Given the description of an element on the screen output the (x, y) to click on. 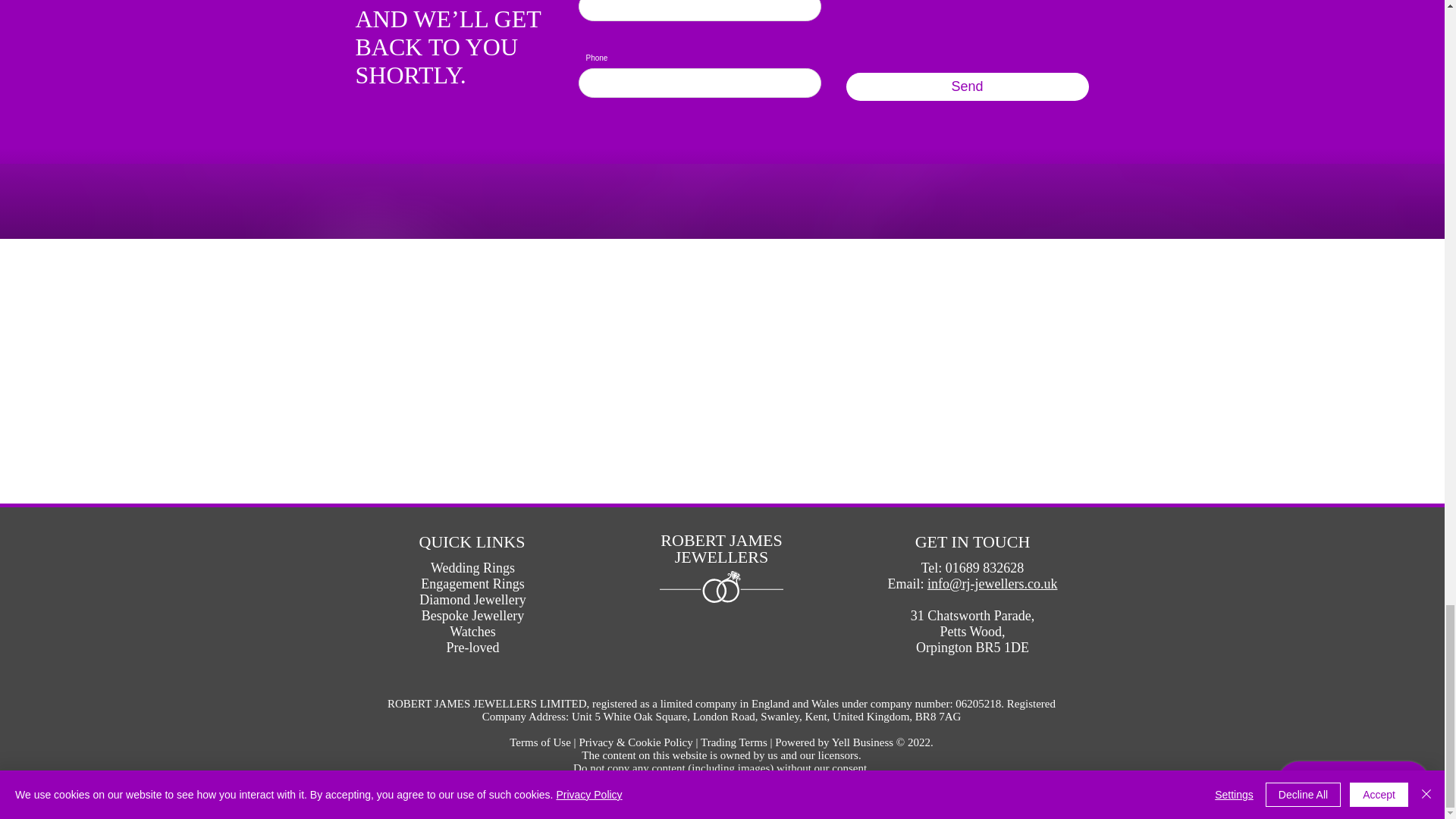
Watches (472, 631)
Send (967, 86)
Terms of Use (539, 742)
Trading Terms (733, 742)
Bespoke Jewellery (473, 615)
Diamond Jewellery (472, 599)
Engagement Rings (472, 583)
Pre-loved (472, 647)
Wedding Rings (472, 567)
